Given the description of an element on the screen output the (x, y) to click on. 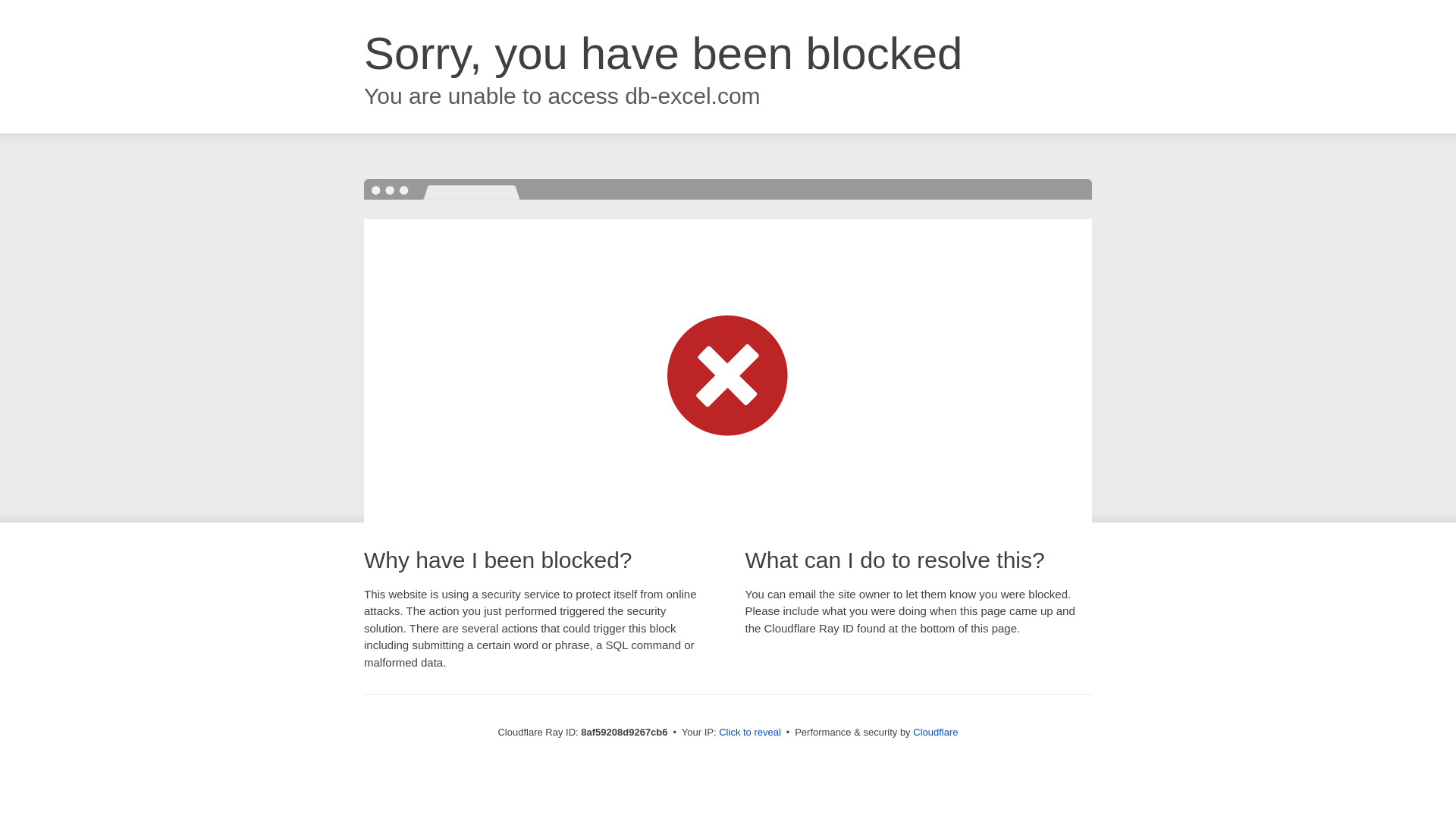
Cloudflare (935, 731)
Click to reveal (749, 732)
